Given the description of an element on the screen output the (x, y) to click on. 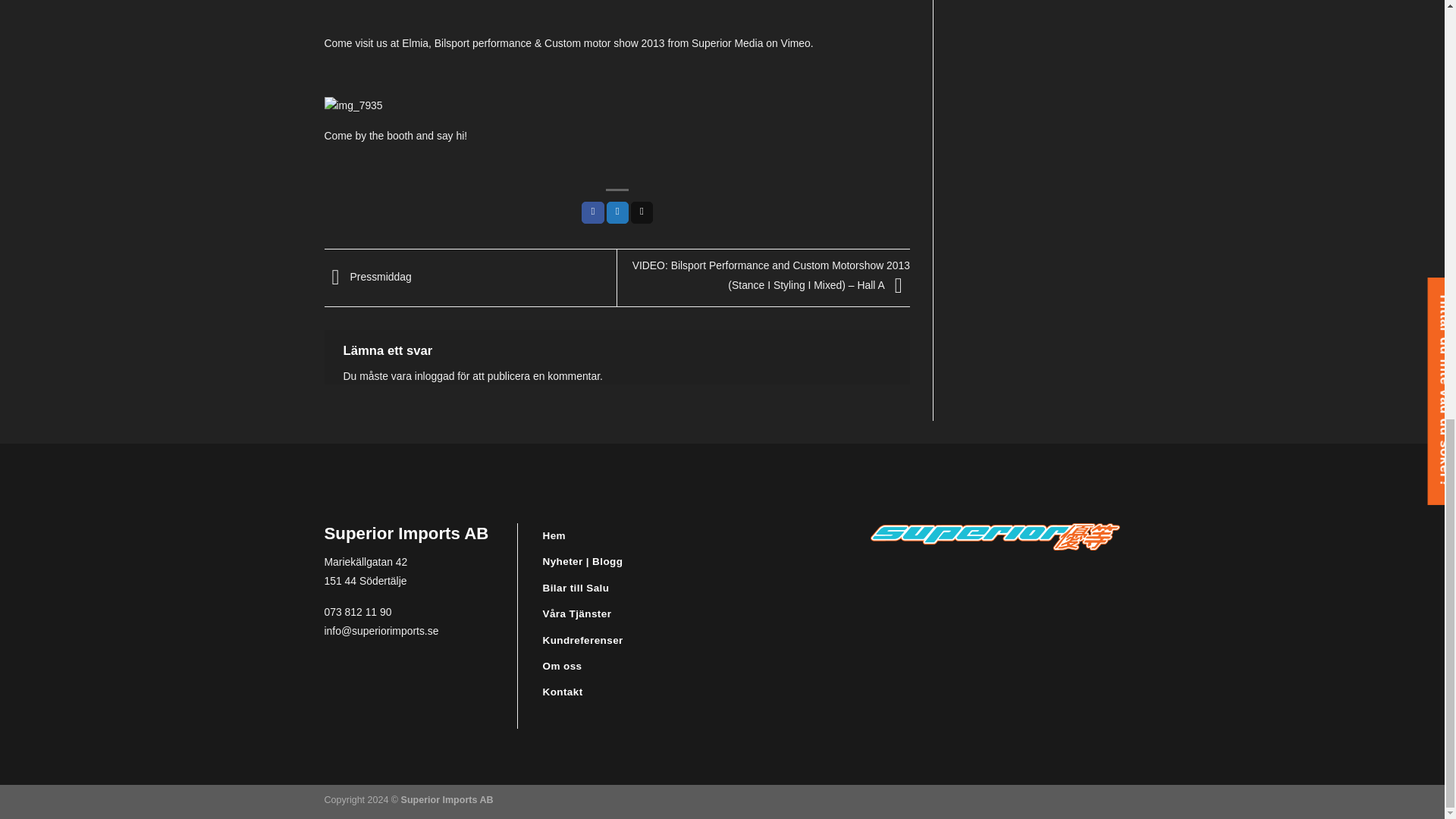
Vimeo (795, 42)
Pressmiddag (368, 276)
Maila en kompis (641, 212)
inloggad (434, 376)
Superior Media (726, 42)
